Given the description of an element on the screen output the (x, y) to click on. 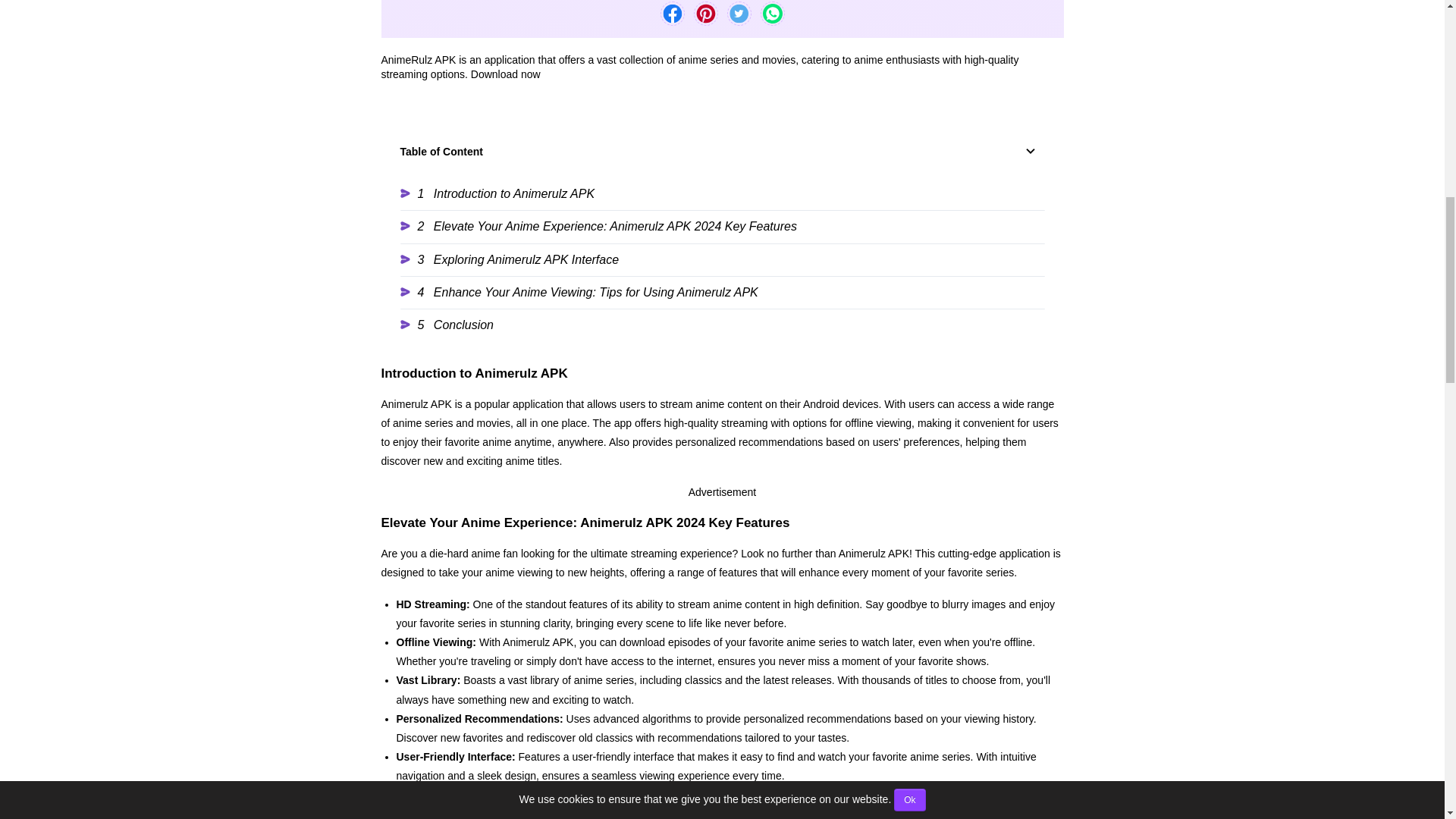
5 Conclusion (722, 324)
1 Introduction to Animerulz APK (722, 193)
4 Enhance Your Anime Viewing: Tips for Using Animerulz APK (722, 292)
3 Exploring Animerulz APK Interface (722, 259)
